Given the description of an element on the screen output the (x, y) to click on. 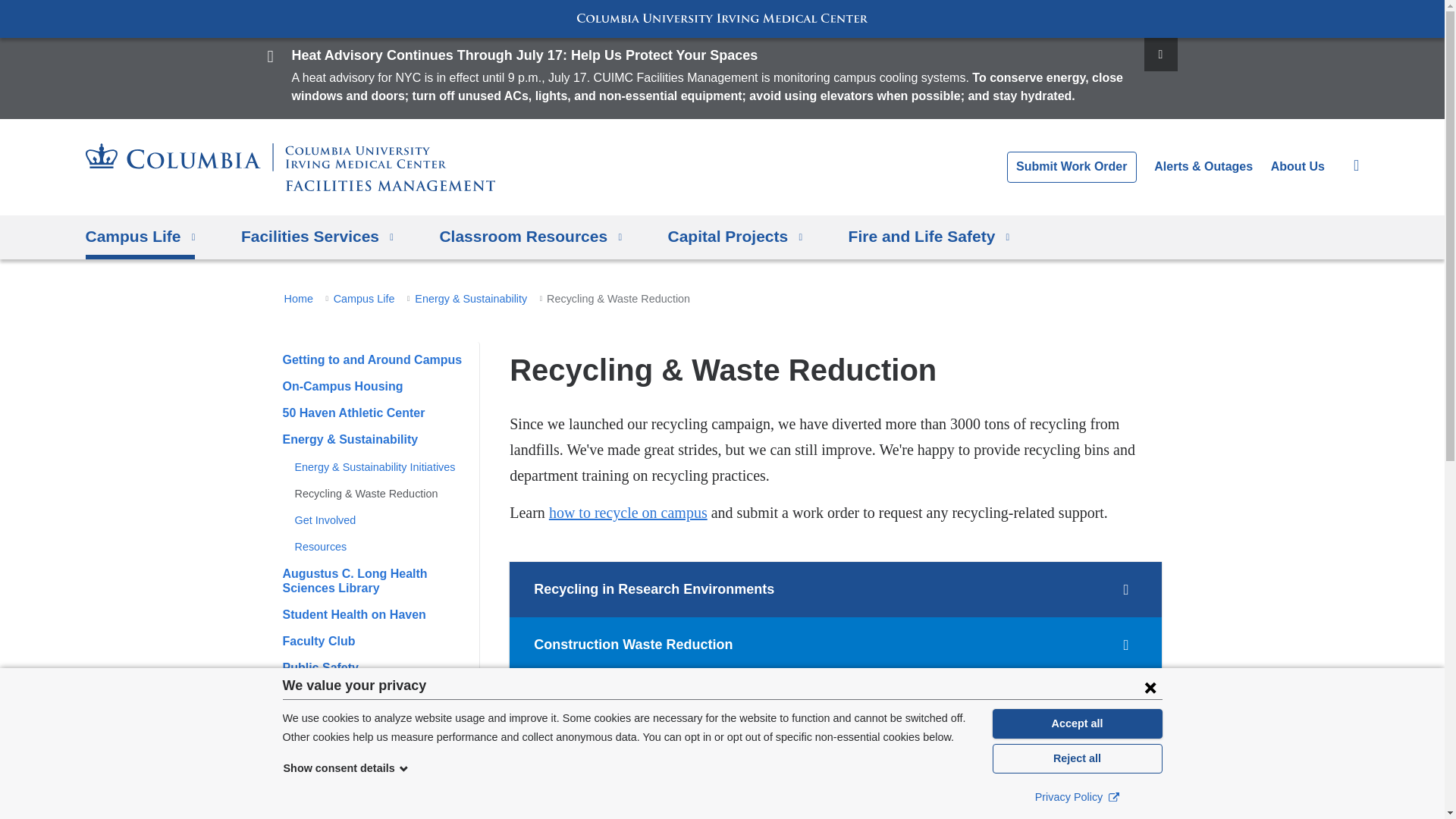
Campus Life (139, 236)
Submit Work Order (1072, 166)
Reject all (1076, 758)
About Us (1297, 165)
Home (289, 166)
Show consent details (346, 768)
Accept all (1076, 723)
Privacy Policy External link Opens in a new window (1076, 796)
Dismiss site alert (1159, 54)
External link Opens in a new window (1113, 796)
Facilities Services (317, 236)
Columbia University Irving Medical Center (721, 17)
